Given the description of an element on the screen output the (x, y) to click on. 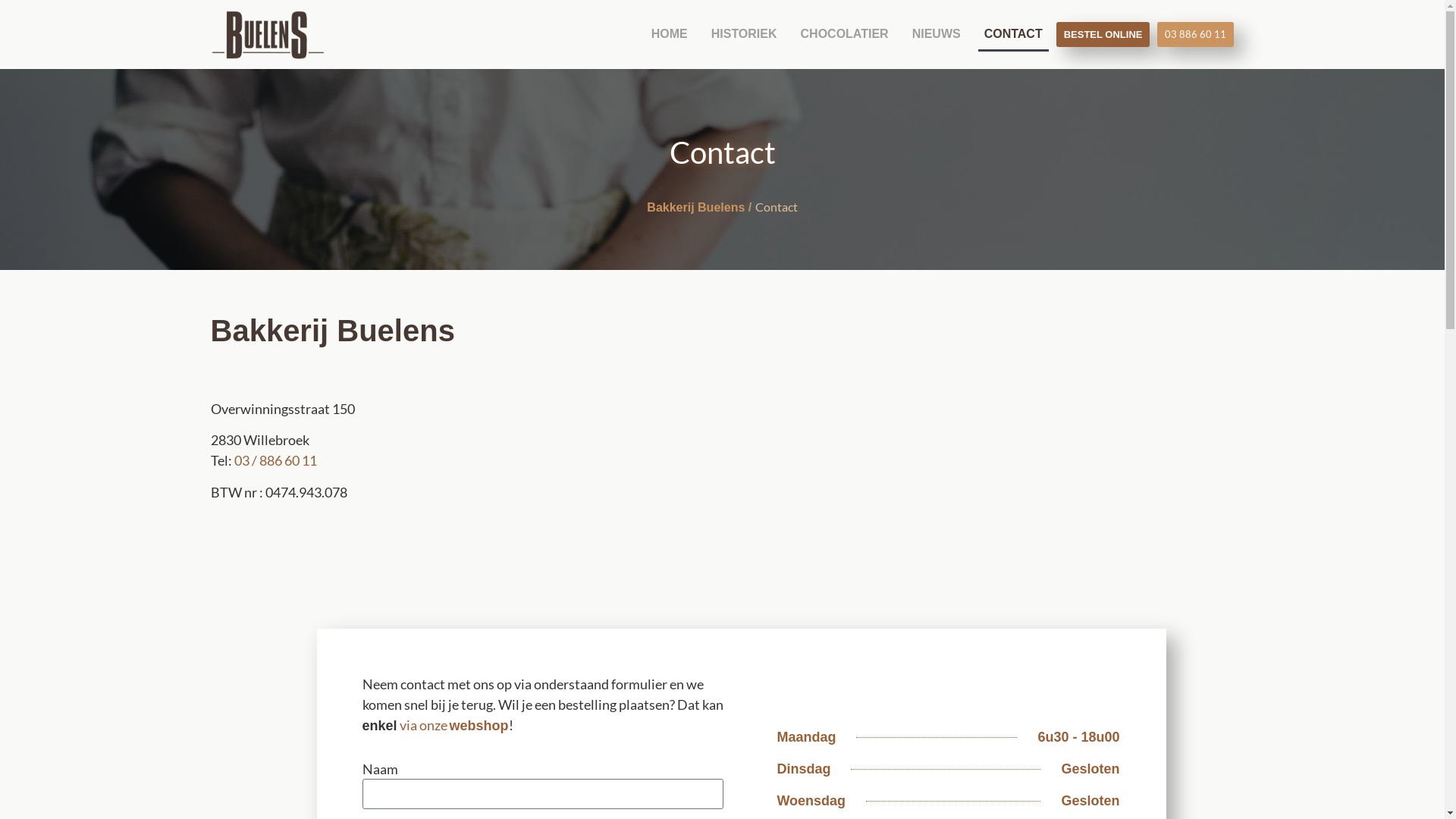
CHOCOLATIER Element type: text (844, 33)
03 886 60 11 Element type: text (1195, 34)
Bakkerij Buelens Element type: text (695, 206)
HISTORIEK Element type: text (744, 33)
HOME Element type: text (669, 33)
via onze webshop Element type: text (453, 724)
CONTACT Element type: text (1013, 33)
Dinsdag
Gesloten Element type: text (947, 773)
03 / 886 60 11 Element type: text (274, 459)
NIEUWS Element type: text (936, 33)
Maandag
6u30 - 18u00 Element type: text (947, 741)
logo bakkerij Buelens Element type: hover (267, 34)
BESTEL ONLINE Element type: text (1103, 34)
